Given the description of an element on the screen output the (x, y) to click on. 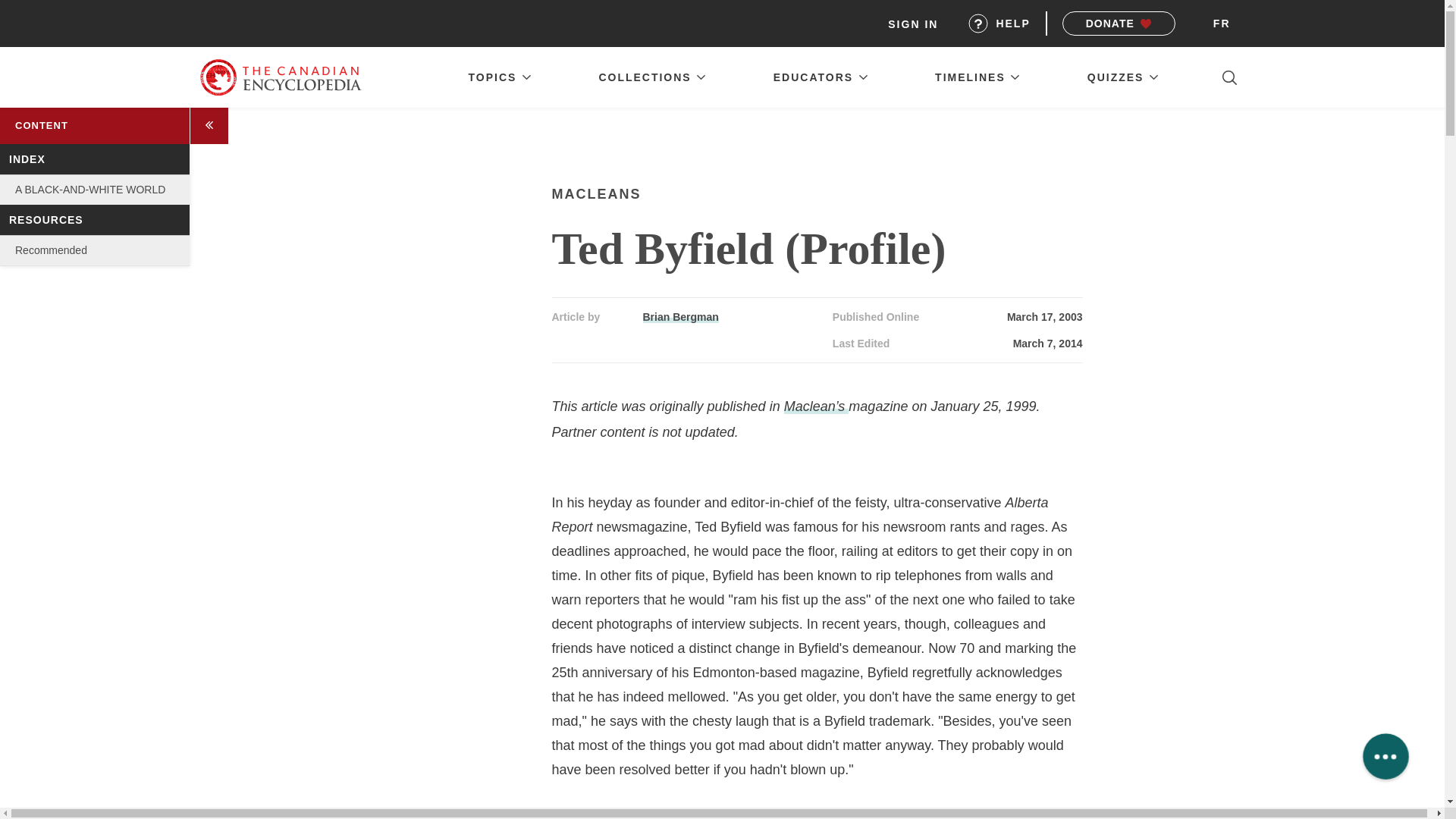
TOPICS (499, 77)
COLLECTIONS (651, 77)
